Given the description of an element on the screen output the (x, y) to click on. 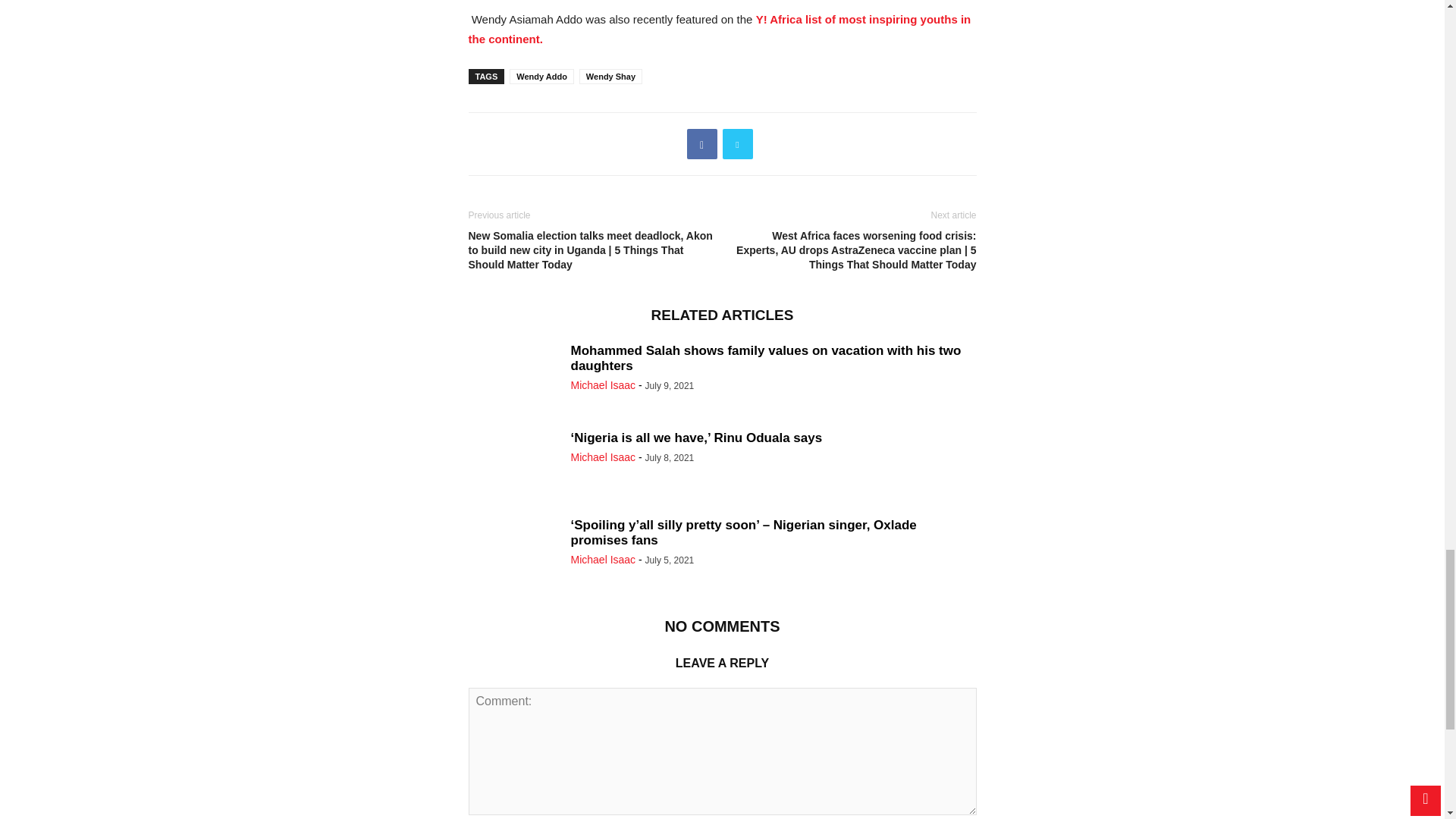
Y! Africa list of most inspiring youths in the continent. (719, 29)
Facebook (702, 143)
Michael Isaac (602, 559)
Michael Isaac (602, 385)
Twitter (737, 143)
Wendy Addo (541, 76)
Wendy Shay (610, 76)
Michael Isaac (602, 457)
